Given the description of an element on the screen output the (x, y) to click on. 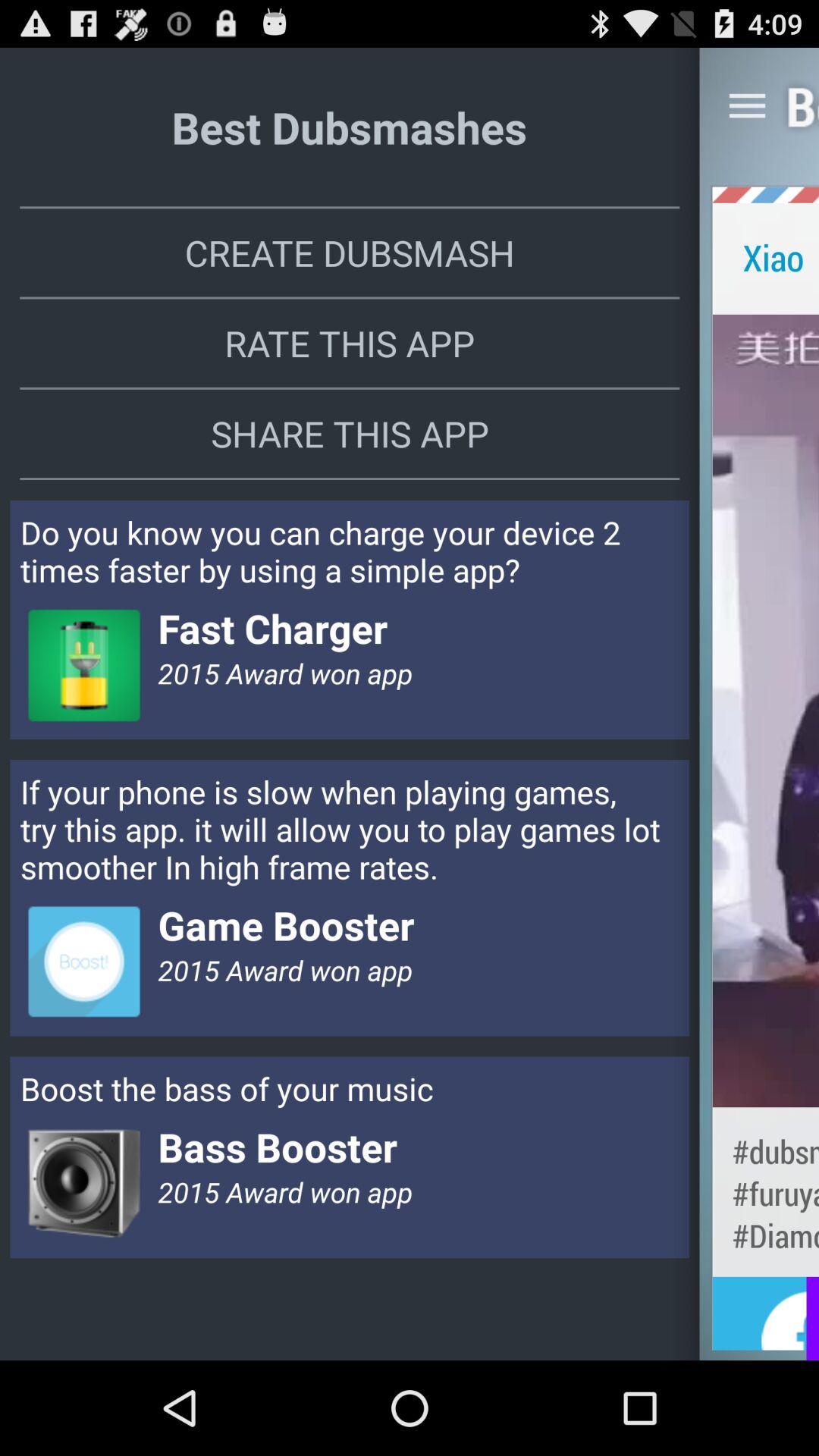
tap the app next to create dubsmash item (765, 257)
